Given the description of an element on the screen output the (x, y) to click on. 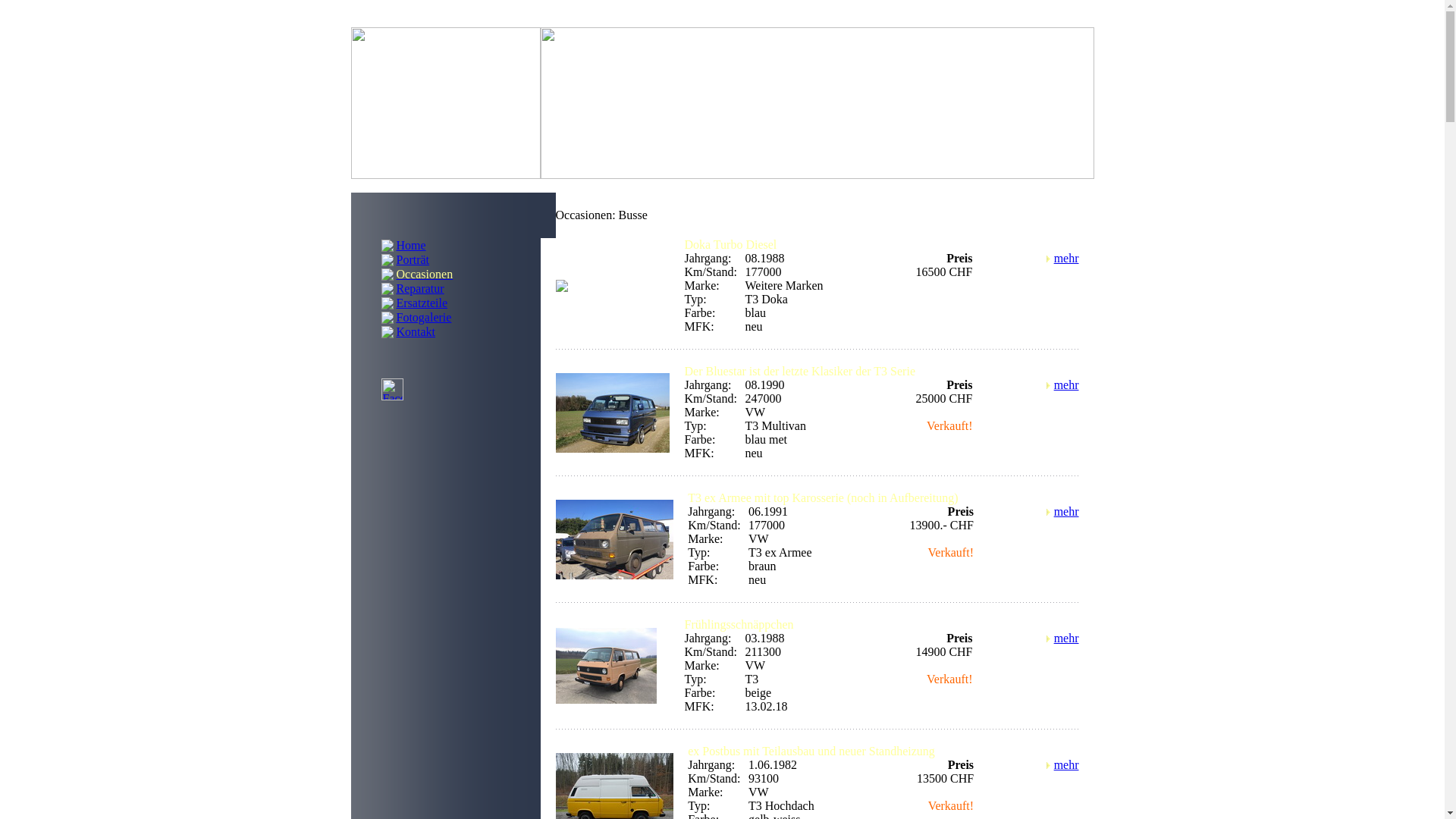
Home Element type: text (410, 244)
Reparatur Element type: text (419, 288)
mehr Element type: text (1066, 637)
mehr Element type: text (1066, 384)
Occasionen Element type: text (423, 272)
facebook Element type: hover (383, 389)
Kontakt Element type: text (415, 330)
mehr Element type: text (1066, 257)
Fotogalerie Element type: text (423, 316)
mehr Element type: text (1066, 511)
mehr Element type: text (1066, 764)
Ersatzteile Element type: text (421, 301)
